Given the description of an element on the screen output the (x, y) to click on. 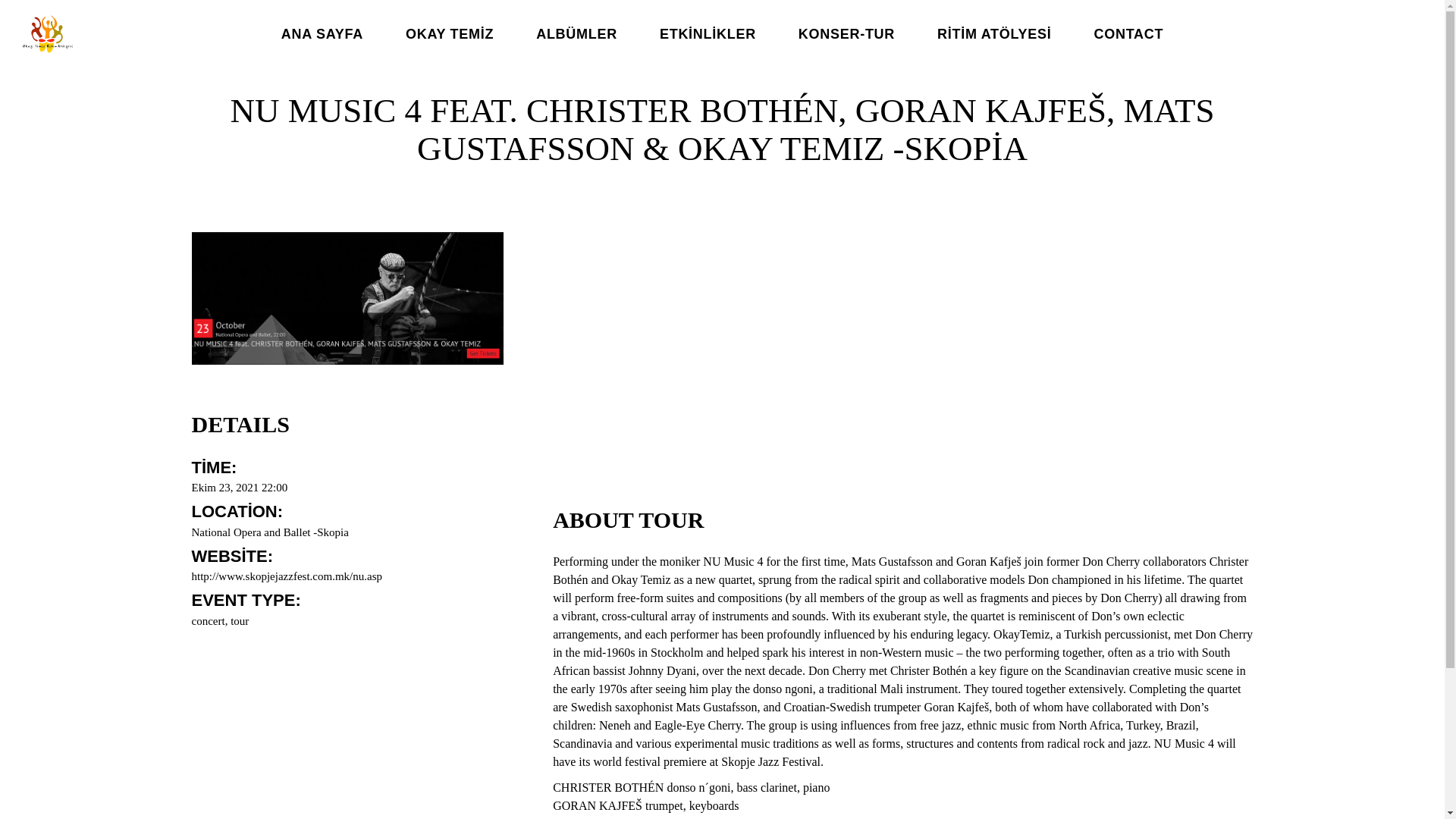
ETKINLIKLER (708, 34)
OKAY TEMIZ (449, 34)
ANA SAYFA (322, 34)
CONTACT (1128, 34)
KONSER-TUR (846, 34)
